Given the description of an element on the screen output the (x, y) to click on. 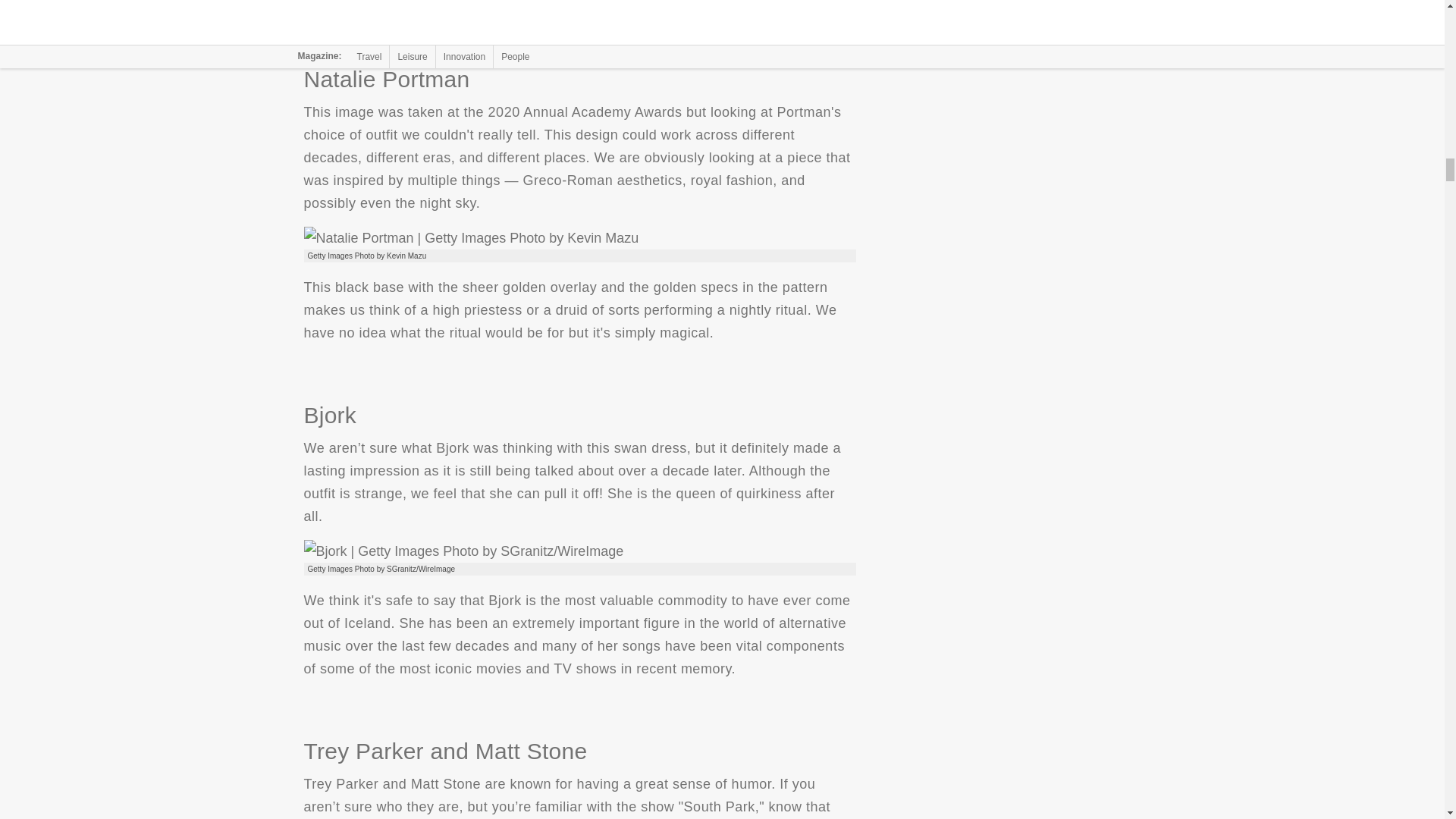
Bjork (462, 550)
Natalie Portman (470, 237)
